Given the description of an element on the screen output the (x, y) to click on. 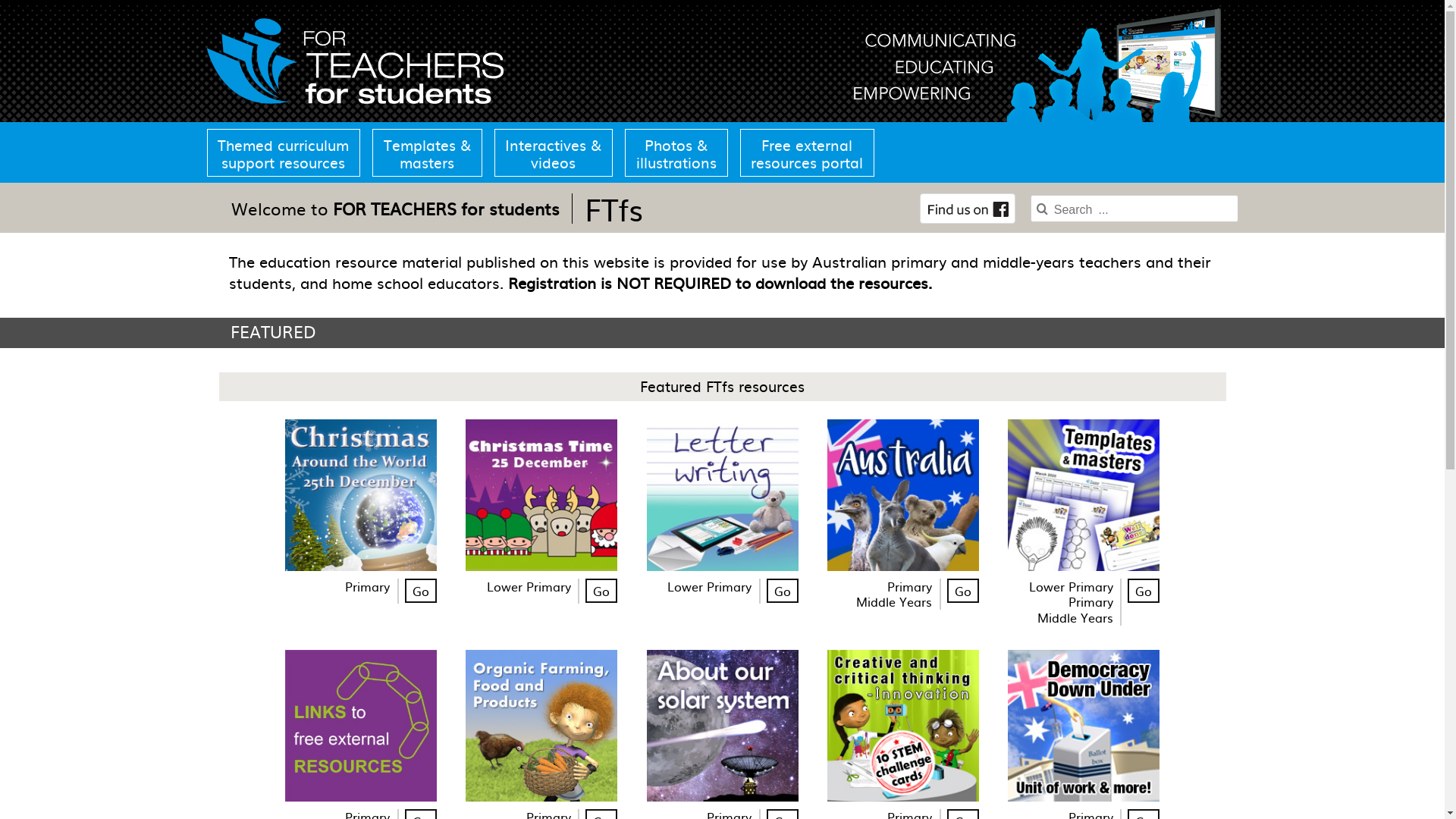
Australia Element type: hover (903, 495)
Interactives &
videos Element type: text (553, 153)
Organic Farming, Food and Products Element type: hover (541, 725)
Innovation - creative and critical thinking Element type: hover (903, 725)
Search Element type: text (1247, 199)
Go Element type: text (601, 590)
Skip to content Element type: text (0, 0)
Themed curriculum
support resources Element type: text (286, 153)
Templates & masters Element type: hover (1083, 495)
Letter Writing (lower primary) Element type: hover (721, 495)
About our solar system Element type: hover (721, 725)
Photos &
illustrations Element type: text (676, 153)
Go Element type: text (963, 590)
Democracy Down Under Element type: hover (1083, 725)
Facebook opens in a new window Element type: hover (967, 208)
Christmas Time (lower primary) Element type: hover (541, 495)
Free external
resources portal Element type: text (804, 153)
Go Element type: text (1143, 590)
Go Element type: text (420, 590)
Free external resources portal Element type: hover (360, 725)
Christmas Around the World (primary) Element type: hover (360, 495)
Templates &
masters Element type: text (427, 153)
Go Element type: text (781, 590)
